Given the description of an element on the screen output the (x, y) to click on. 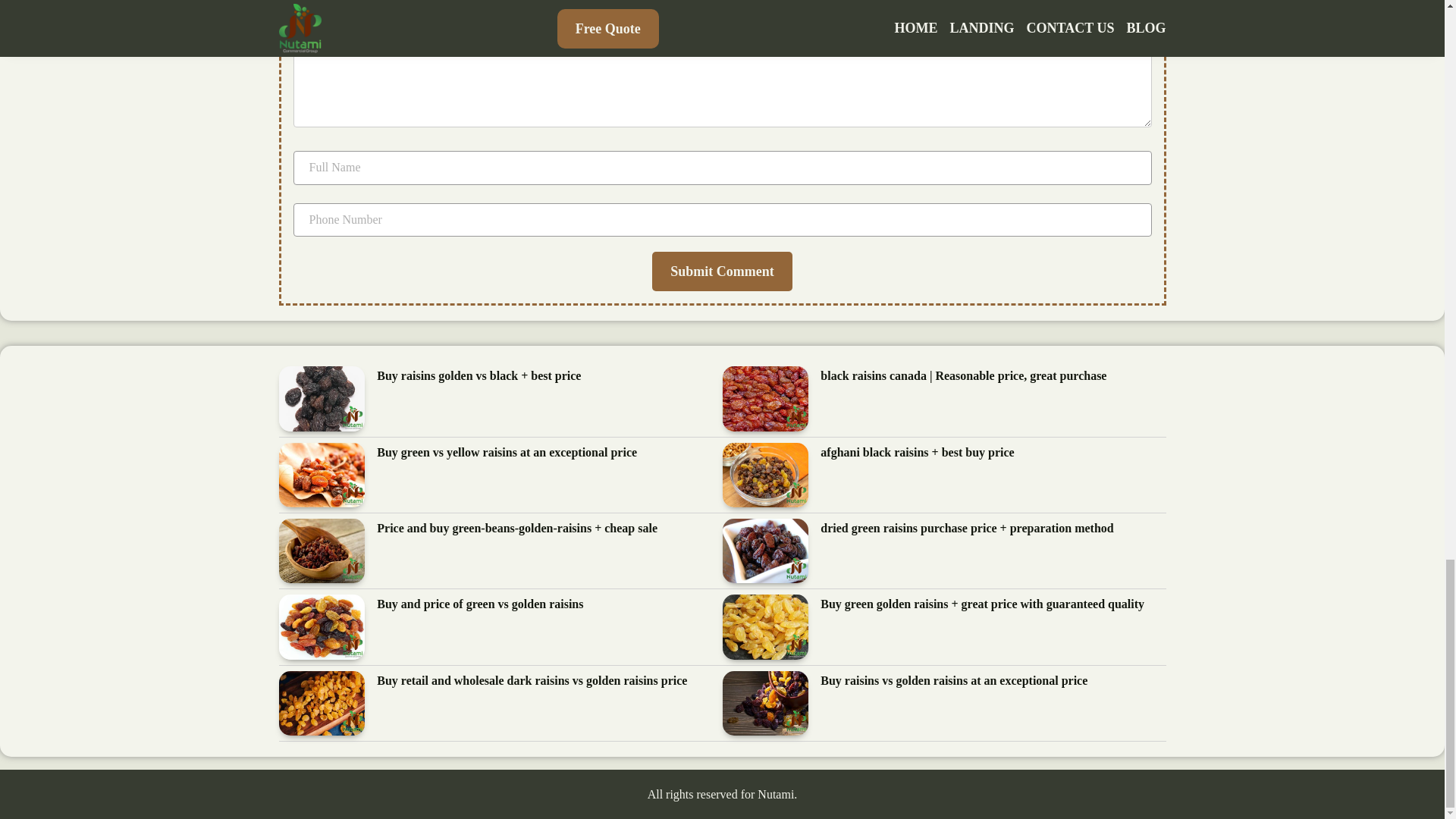
Buy raisins vs golden raisins at an exceptional price (954, 680)
Buy and price of green vs golden raisins (480, 604)
Buy green vs yellow raisins at an exceptional price (507, 453)
Submit Comment (722, 271)
Submit Comment (722, 271)
